Given the description of an element on the screen output the (x, y) to click on. 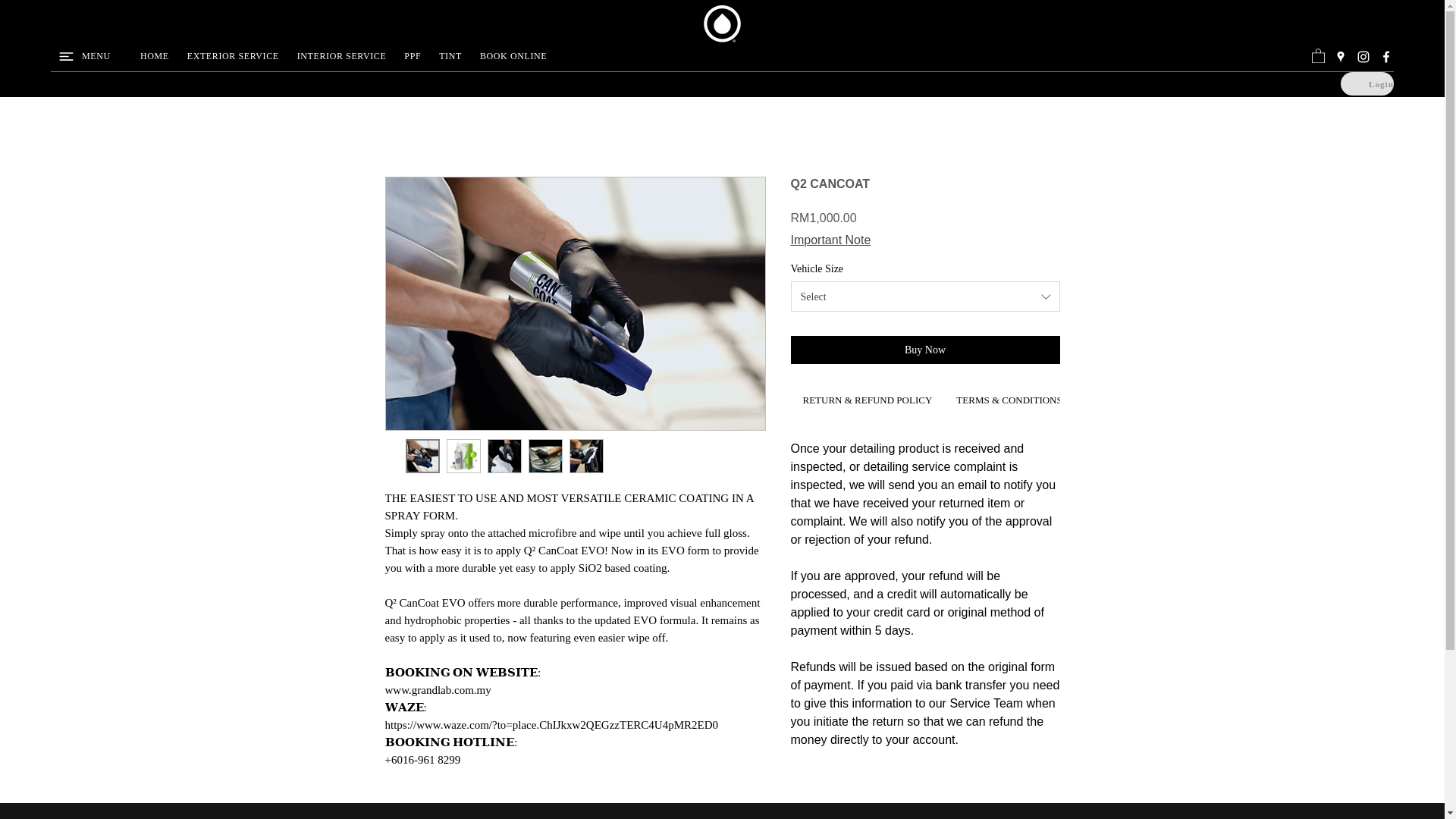
EXTERIOR SERVICE (232, 56)
BOOK ONLINE (512, 56)
MENU (93, 56)
Login (1366, 83)
Important Note (830, 240)
Select (924, 296)
Use right and left arrows to navigate between tabs (867, 402)
TINT (449, 56)
INTERIOR SERVICE (341, 56)
Buy Now (924, 349)
